Given the description of an element on the screen output the (x, y) to click on. 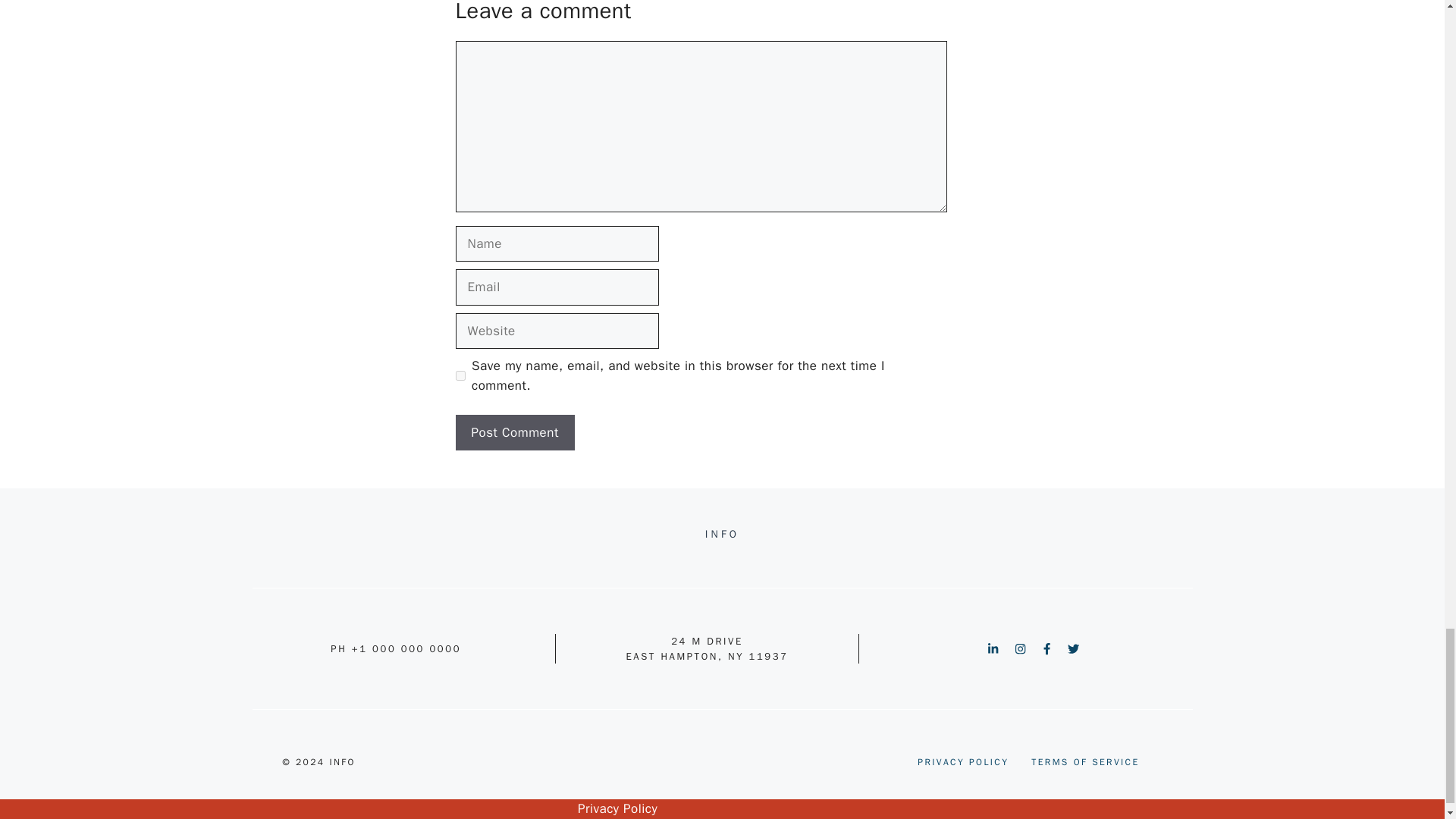
Post Comment (513, 432)
Privacy Policy (618, 808)
PRIVACY POLICY (963, 762)
TERMS OF SERVICE (1084, 762)
Post Comment (513, 432)
yes (459, 375)
